Given the description of an element on the screen output the (x, y) to click on. 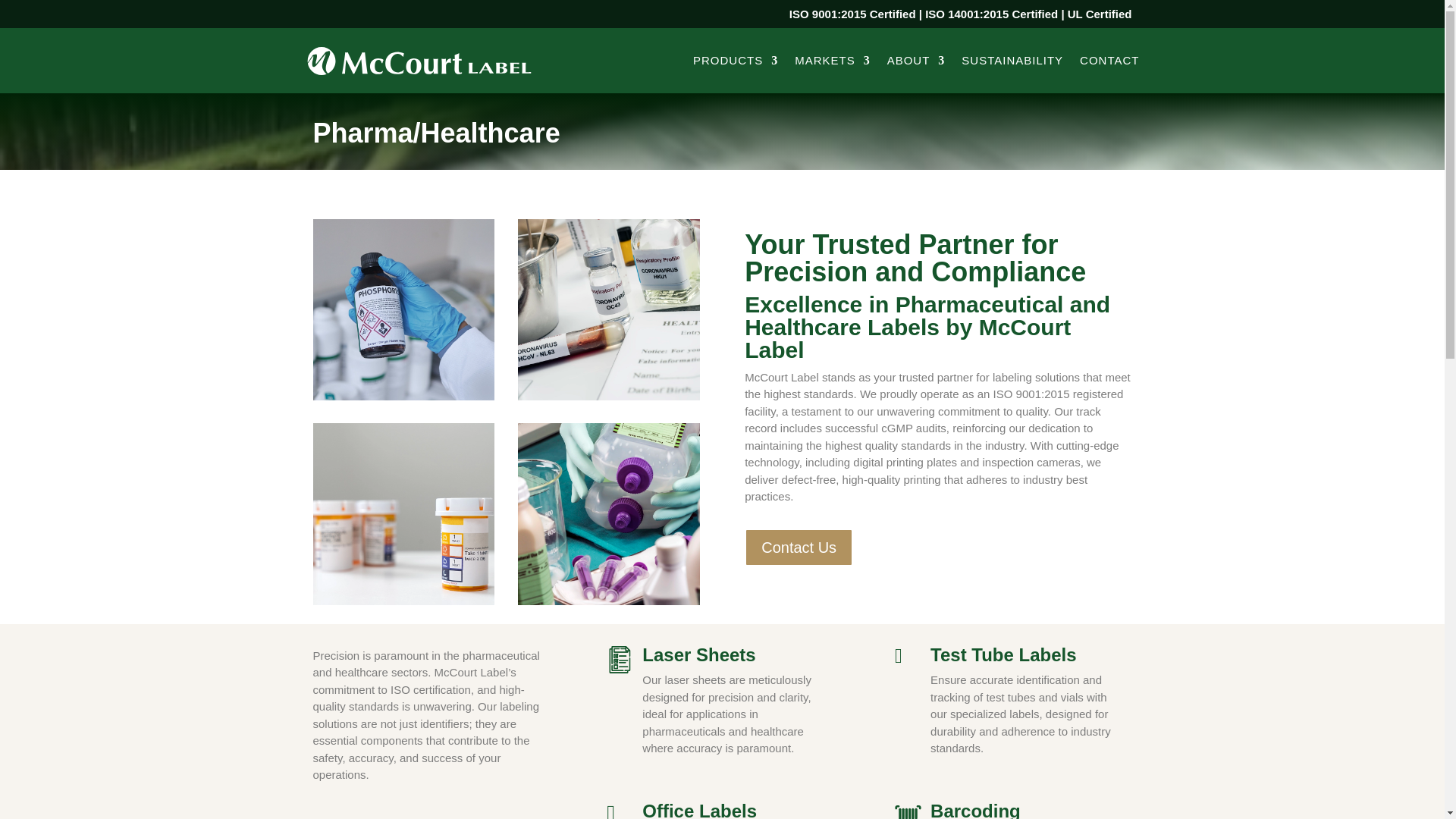
PRODUCTS (735, 60)
ABOUT (915, 60)
SUSTAINABILITY (1011, 60)
CONTACT (1109, 60)
MARKETS (832, 60)
